Given the description of an element on the screen output the (x, y) to click on. 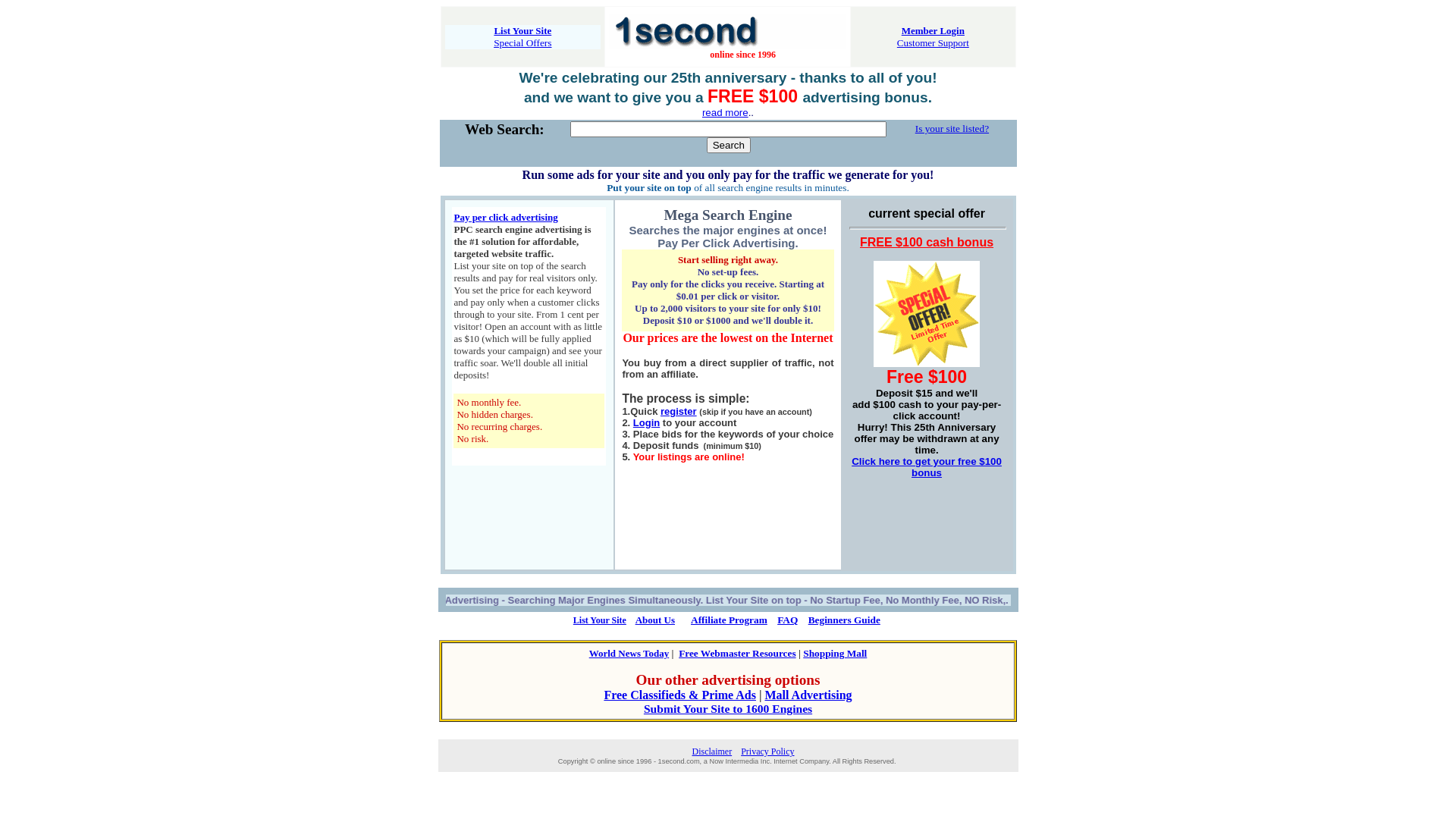
FAQ Element type: text (787, 619)
Free Webmaster Resources Element type: text (736, 652)
The process is simple:
1.Quick Element type: text (685, 404)
Affiliate Program Element type: text (728, 619)
About Us Element type: text (654, 619)
World News Today Element type: text (628, 652)
Pay per click advertising Element type: text (505, 216)
Free Classifieds & Prime Ads Element type: text (679, 694)
Customer Support Element type: text (933, 41)
Is your site listed? Element type: text (951, 128)
Our prices are the lowest on the Internet Element type: text (727, 337)
register Element type: text (678, 411)
Mall Advertising Element type: text (807, 694)
Search Element type: text (728, 145)
List Your Site Element type: text (522, 29)
Disclaimer Element type: text (711, 751)
List Your Site Element type: text (599, 620)
Privacy Policy Element type: text (766, 751)
read more Element type: text (725, 112)
Shopping Mall Element type: text (834, 652)
Submit Your Site to 1600 Engines Element type: text (727, 708)
Click here to get your free $100 bonus Element type: text (926, 466)
Member Login Element type: text (932, 29)
Special Offers Element type: text (522, 41)
Login Element type: text (646, 422)
Beginners Guide Element type: text (844, 619)
FREE $100 cash bonus Element type: text (926, 241)
